Given the description of an element on the screen output the (x, y) to click on. 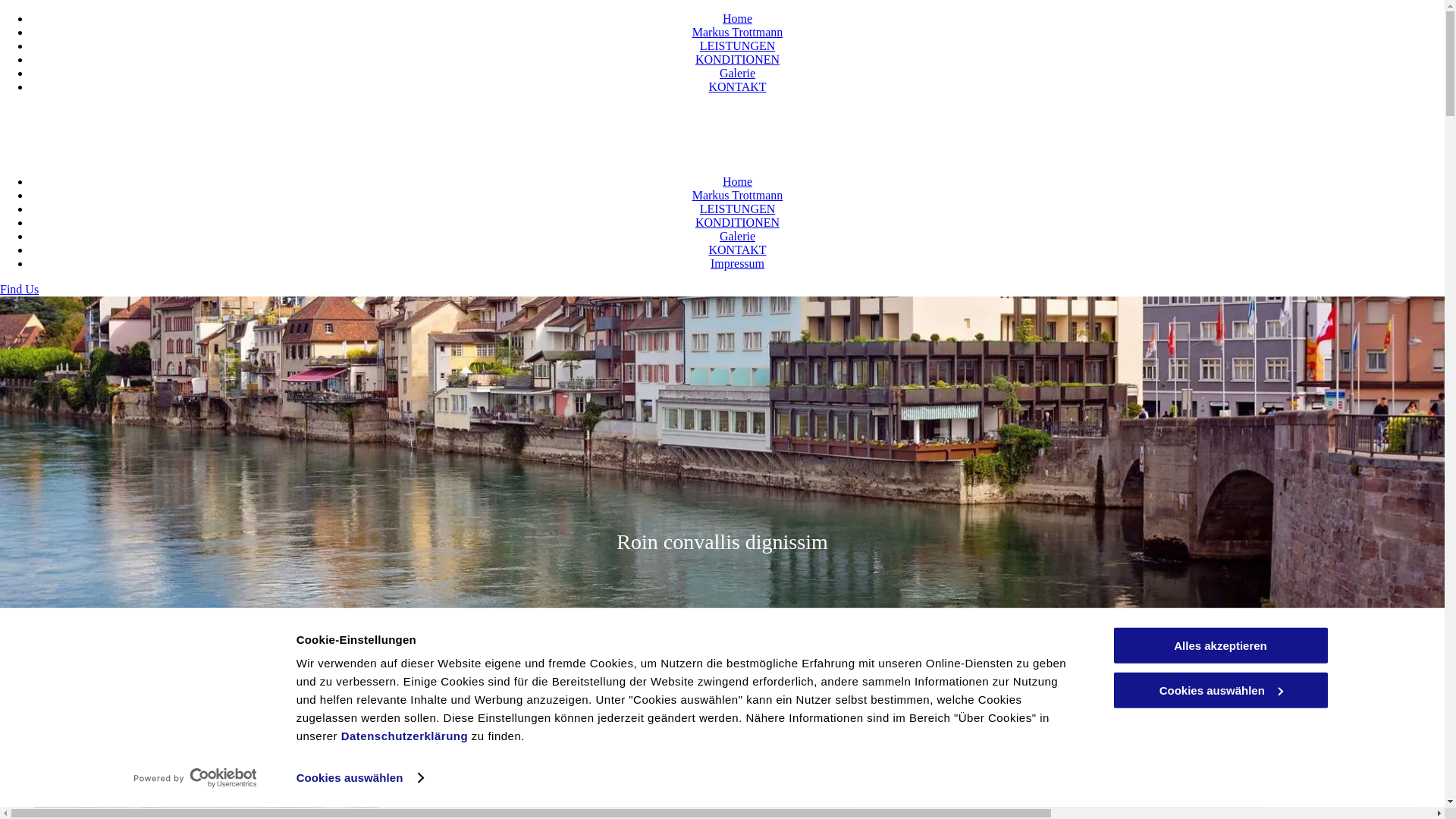
  Element type: text (626, 114)
ADVOKATUR AM RHEIN Element type: text (122, 149)
LEISTUNGEN Element type: text (737, 45)
Markus Trottmann Element type: text (737, 31)
Galerie Element type: text (737, 235)
Impressum Element type: text (737, 263)
LEISTUNGEN Element type: text (737, 208)
Find Us Element type: text (19, 288)
KONDITIONEN Element type: text (737, 222)
KONTAKT Element type: text (736, 86)
KONTAKT Element type: text (736, 249)
Markus Trottmann Element type: text (737, 194)
KONDITIONEN Element type: text (737, 59)
Home Element type: text (737, 18)
ADVOKATUR AM RHEIN Element type: text (729, 114)
Home Element type: text (737, 181)
Galerie Element type: text (737, 72)
  Element type: text (2, 149)
Alles akzeptieren Element type: text (1219, 645)
